Given the description of an element on the screen output the (x, y) to click on. 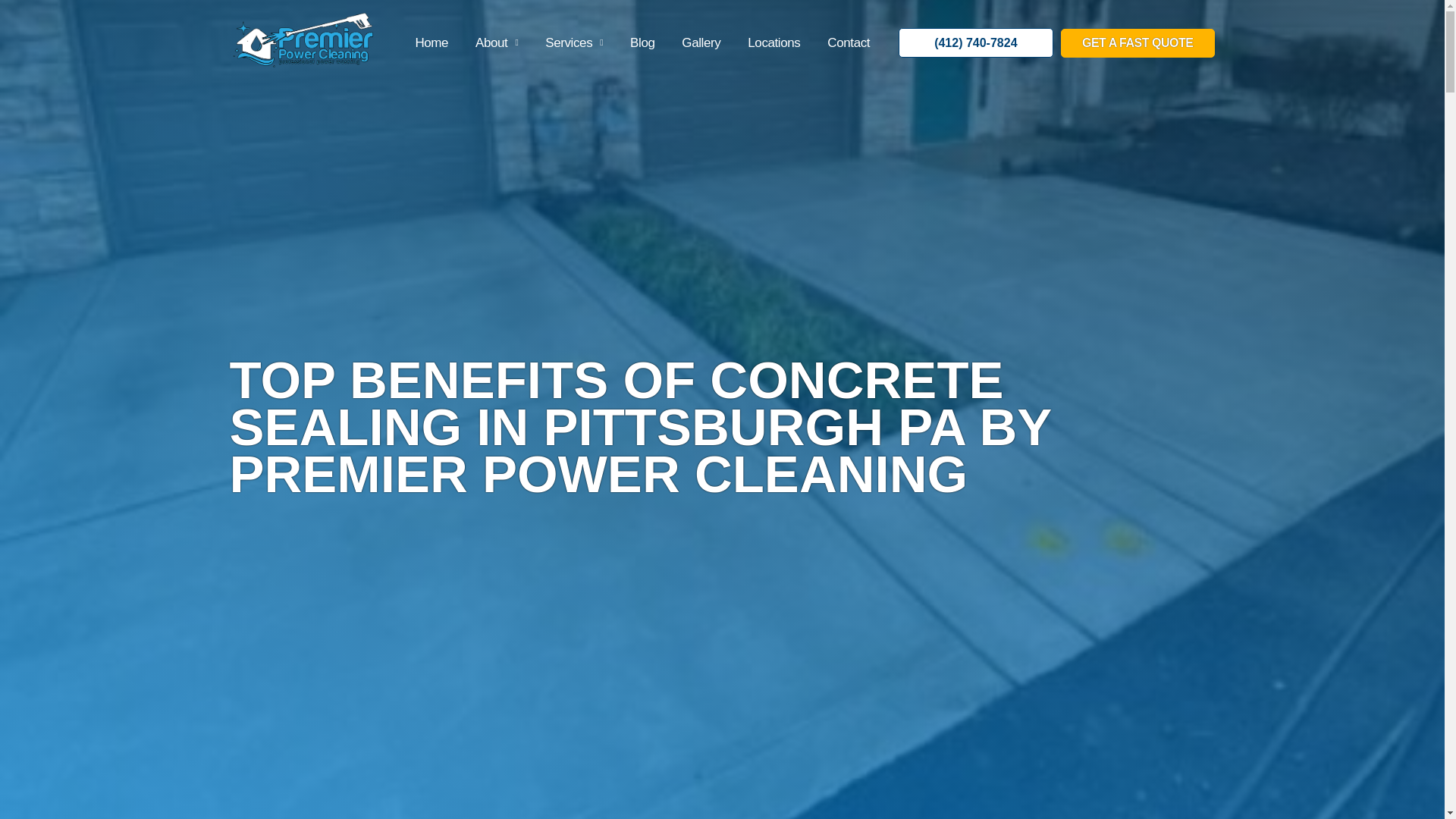
Contact (848, 42)
Locations (773, 42)
Home (431, 42)
Services (573, 42)
Gallery (700, 42)
Blog (641, 42)
About (496, 42)
